Given the description of an element on the screen output the (x, y) to click on. 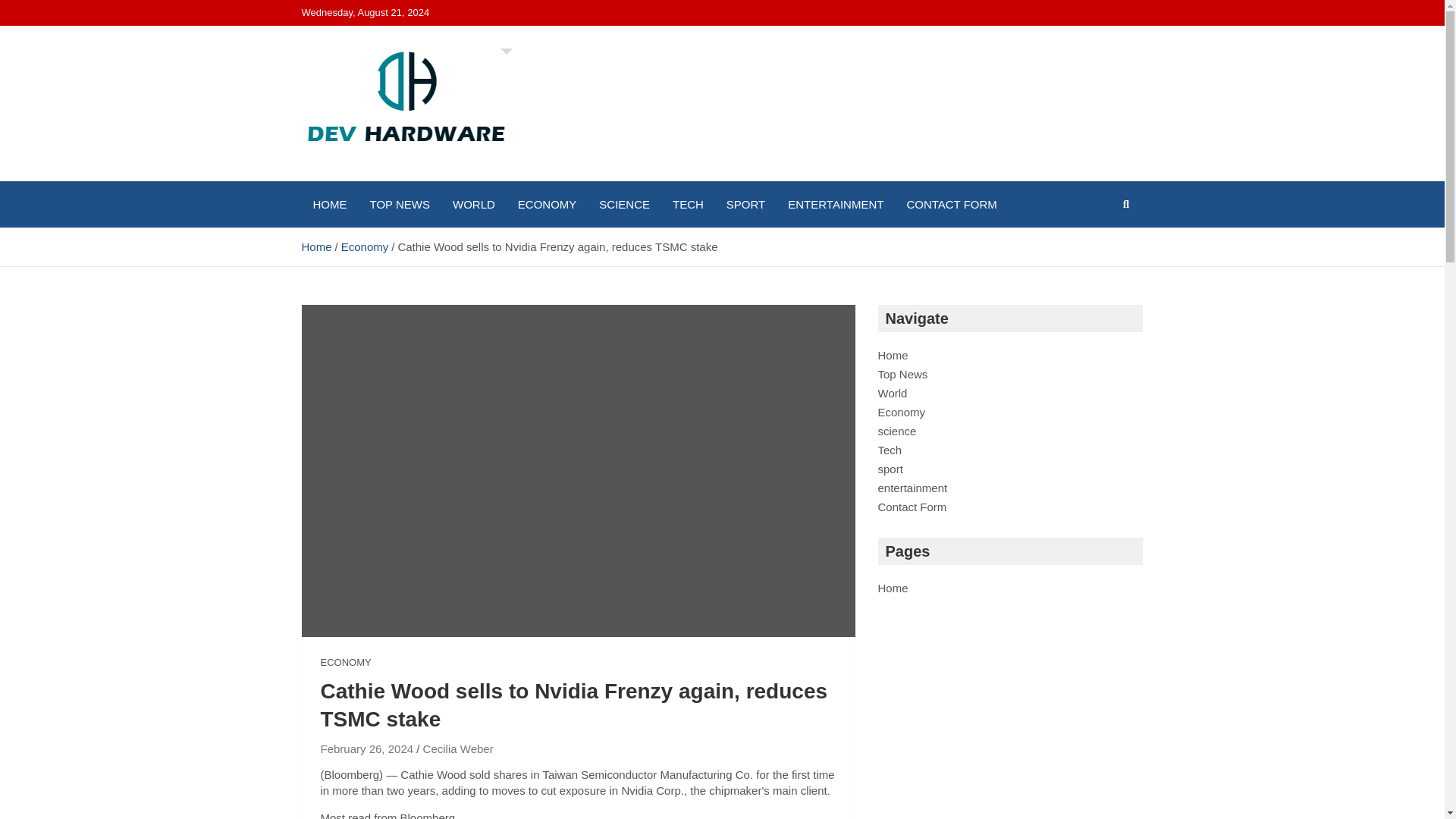
sport (889, 468)
HOME (329, 203)
World (892, 392)
entertainment (912, 487)
TOP NEWS (399, 203)
Dev Hardware (402, 177)
ECONOMY (345, 662)
TECH (687, 203)
Home (892, 354)
Contact Form (912, 506)
